Given the description of an element on the screen output the (x, y) to click on. 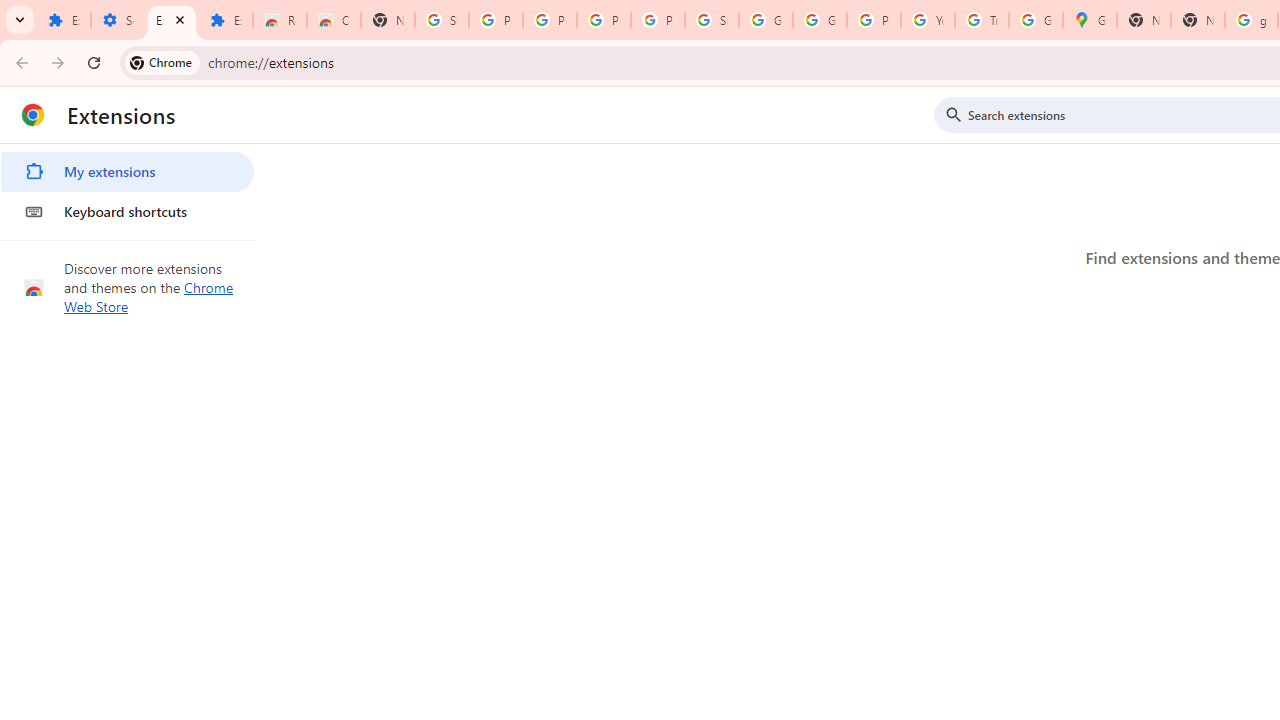
Extensions (63, 20)
Chrome Web Store (149, 296)
Settings (117, 20)
New Tab (387, 20)
Keyboard shortcuts (127, 211)
New Tab (1197, 20)
My extensions (127, 171)
Extensions (171, 20)
Google Maps (1089, 20)
